Given the description of an element on the screen output the (x, y) to click on. 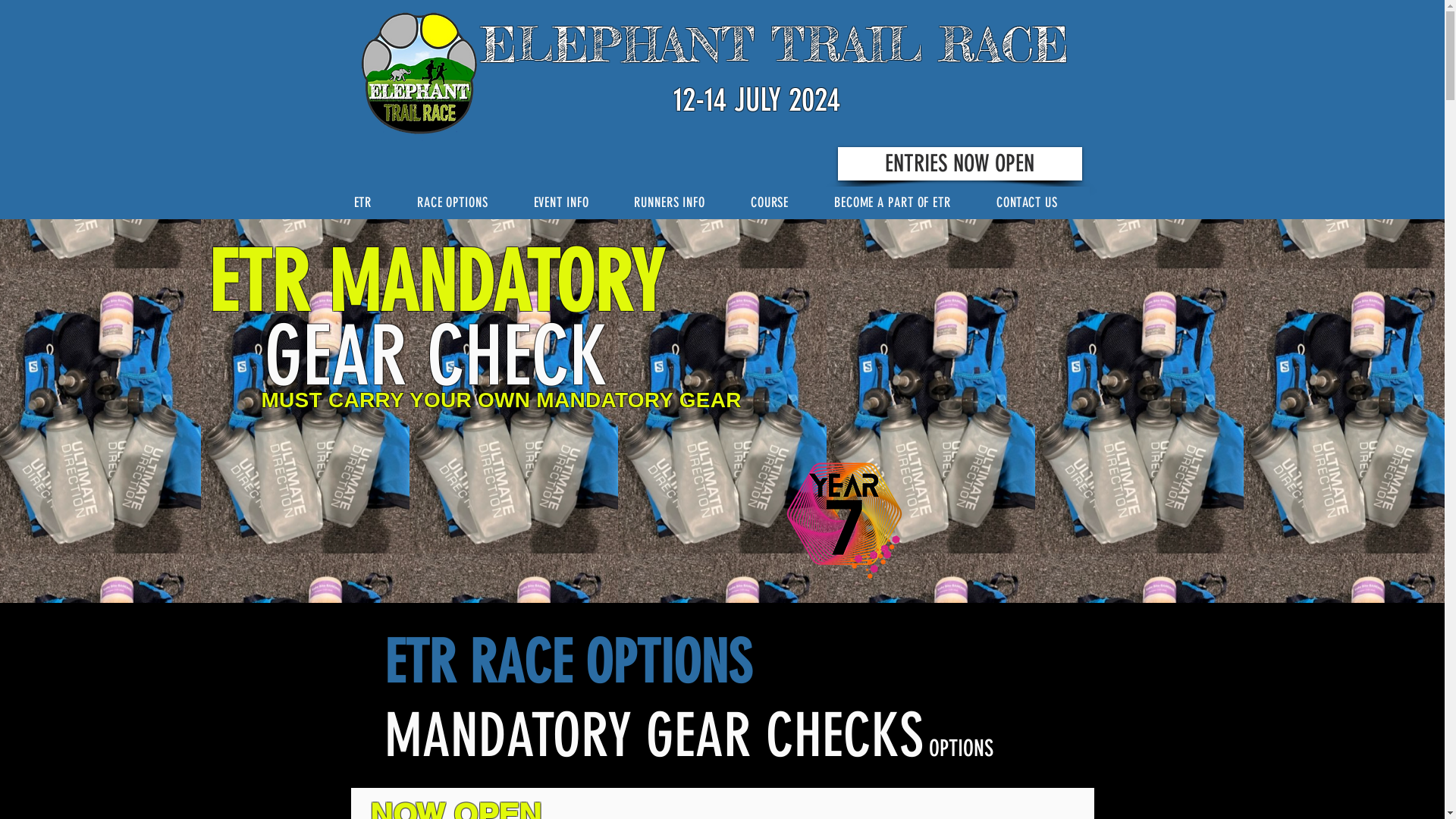
ENTRIES NOW OPEN Element type: text (959, 163)
BECOME A PART OF ETR Element type: text (904, 202)
ETR Element type: text (373, 202)
RACE OPTIONS Element type: text (464, 202)
CONTACT US Element type: text (1038, 202)
